Given the description of an element on the screen output the (x, y) to click on. 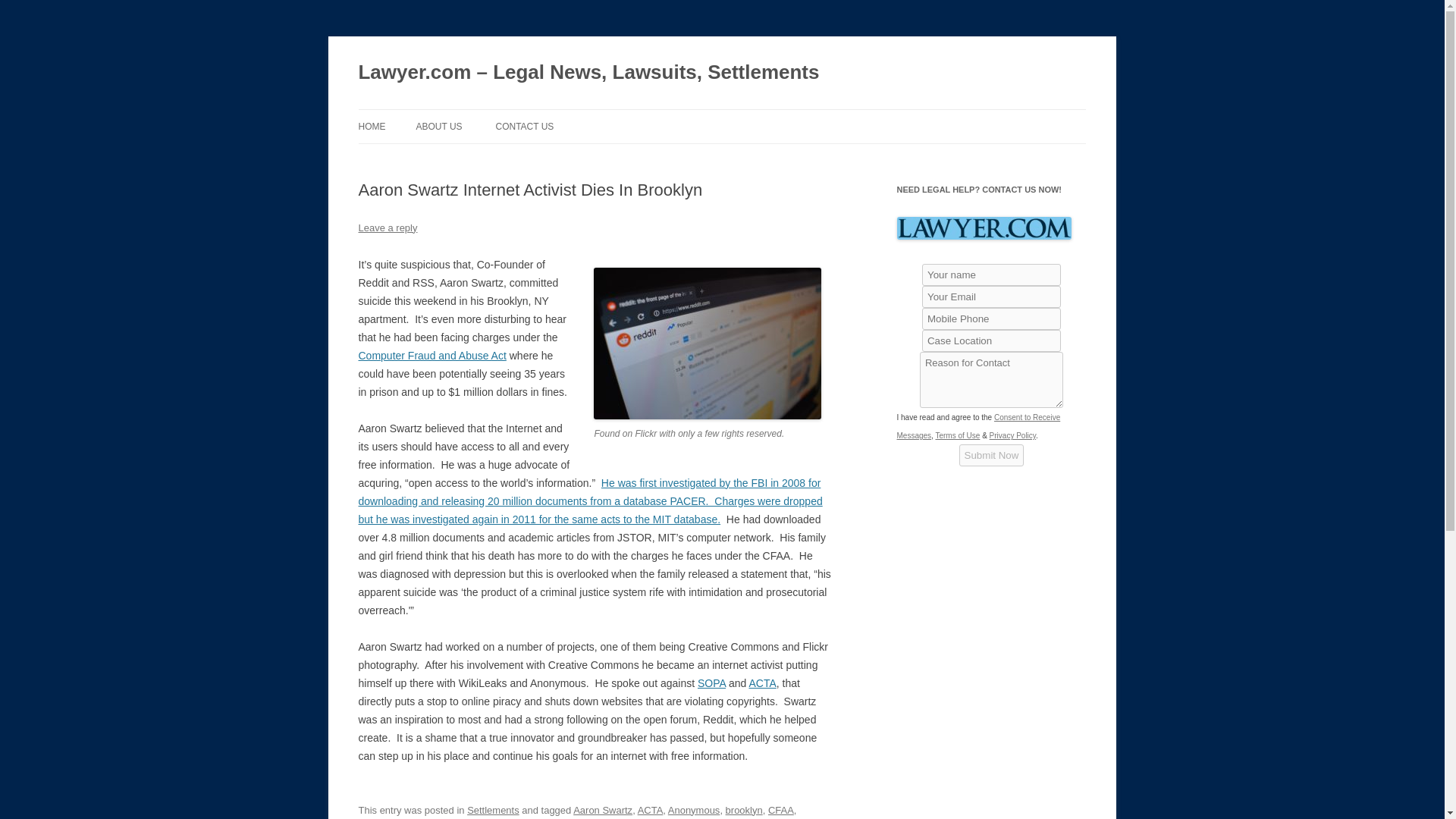
ACTA (650, 809)
Anonymous (694, 809)
ACTA (762, 683)
Leave a reply (387, 227)
brooklyn (743, 809)
ABOUT US (437, 126)
Aaron Swartz (602, 809)
Computer Fraud and Abuse Act (431, 355)
Settlements (493, 809)
SOPA (711, 683)
